Given the description of an element on the screen output the (x, y) to click on. 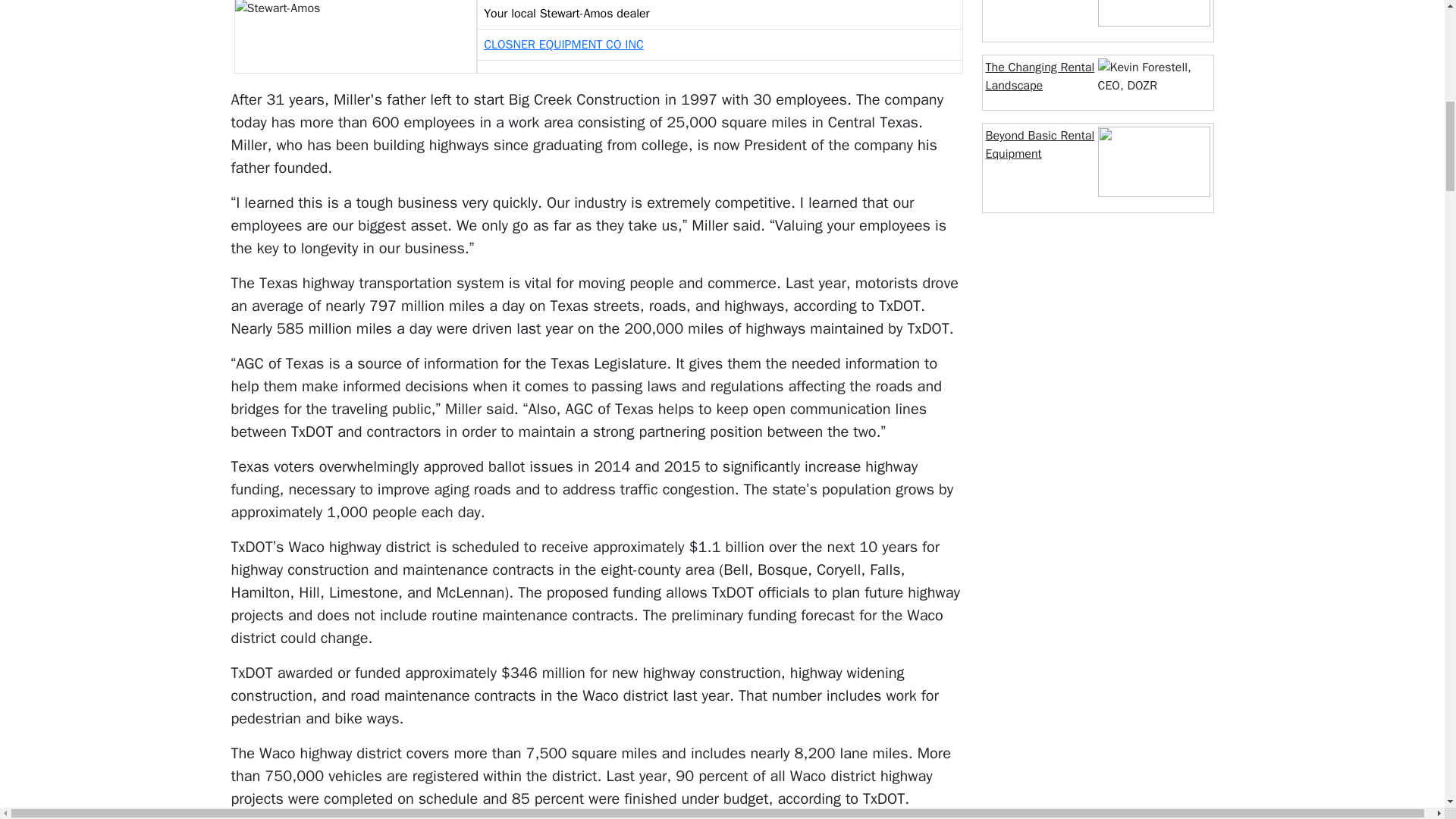
CLOSNER EQUIPMENT CO INC (563, 44)
The Changing Rental Landscape (1039, 76)
Beyond Basic Rental Equipment (1039, 144)
